Given the description of an element on the screen output the (x, y) to click on. 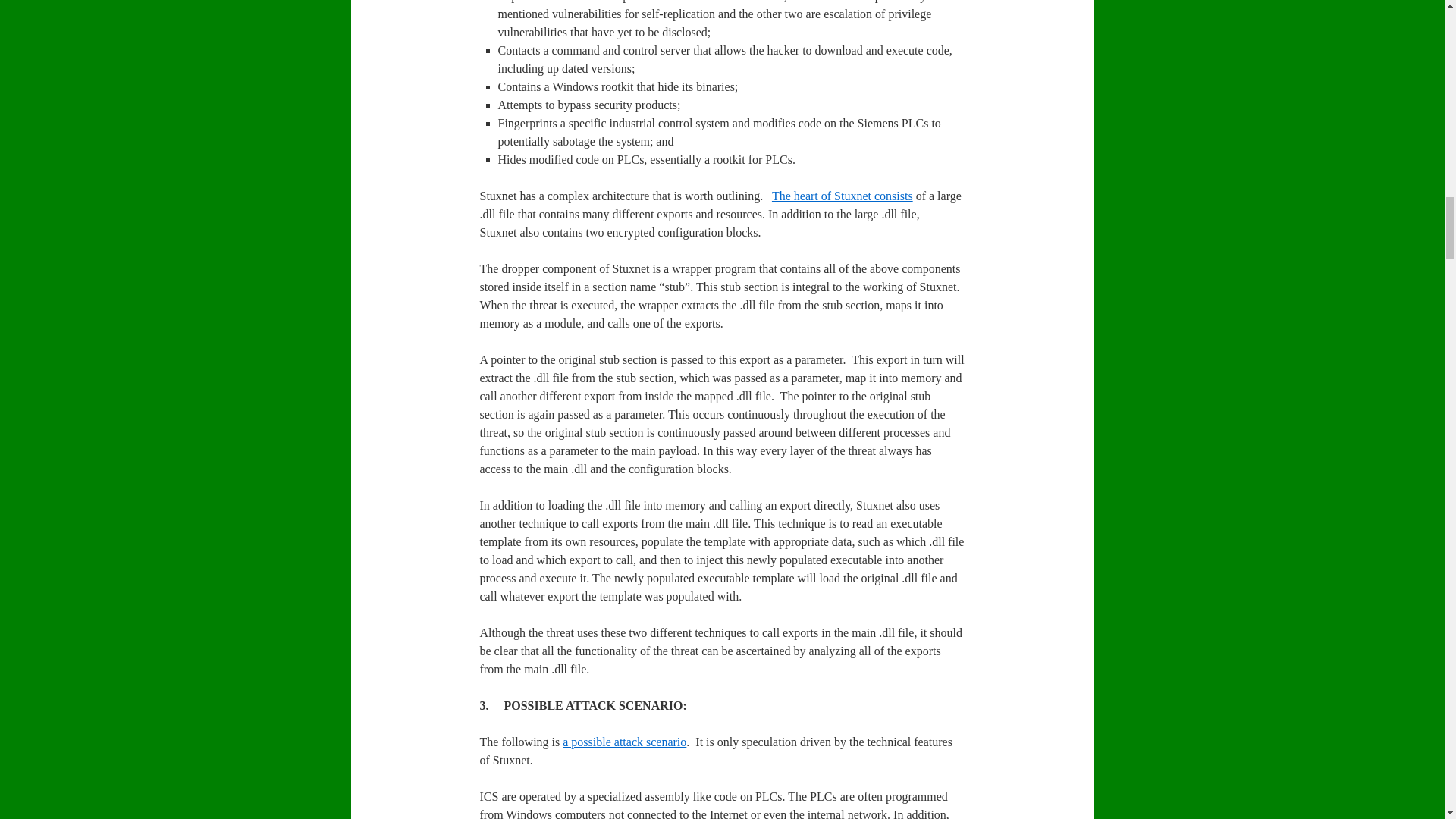
The heart of Stuxnet consists (841, 195)
a possible attack scenario (623, 741)
